Given the description of an element on the screen output the (x, y) to click on. 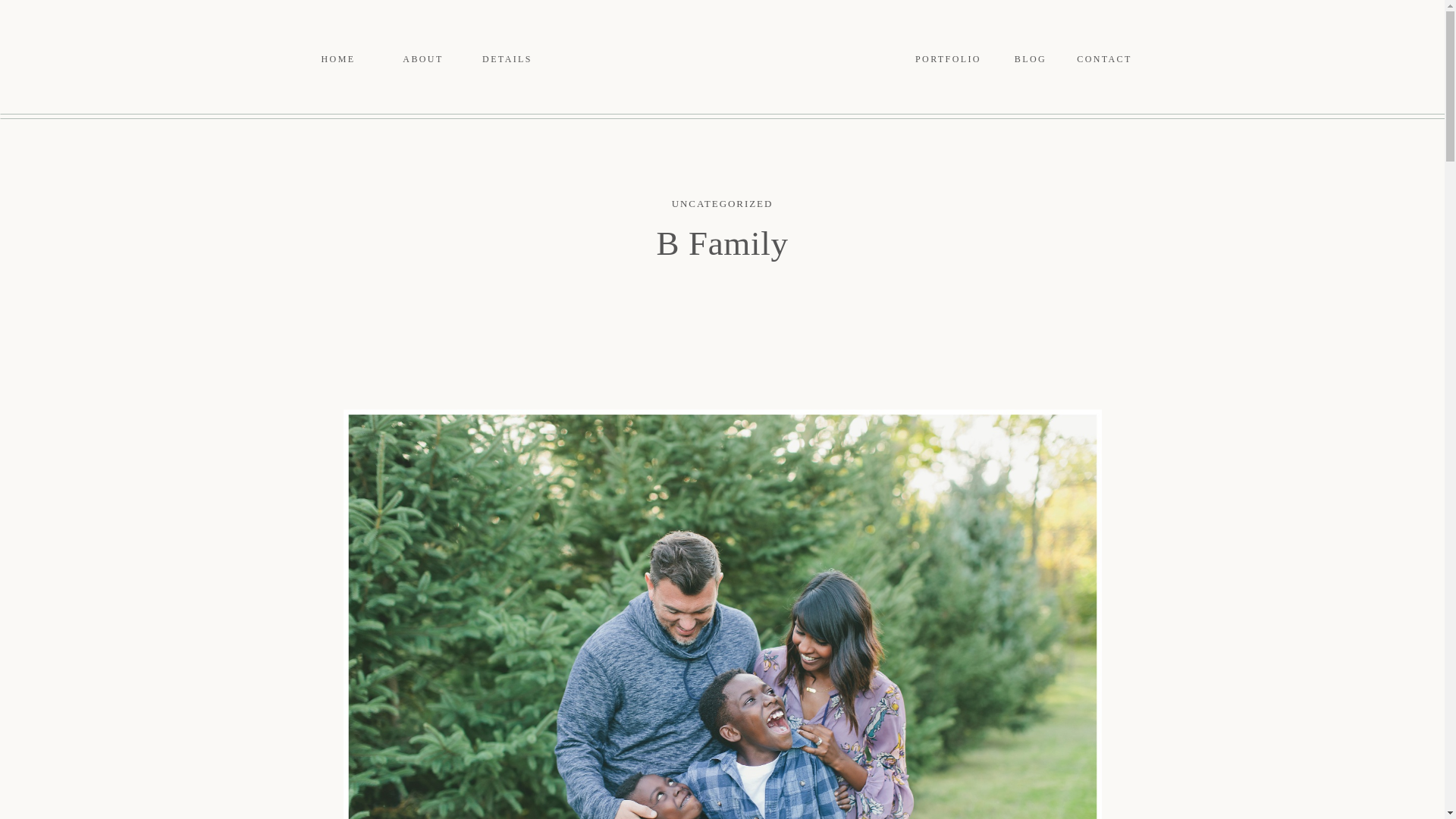
PORTFOLIO (948, 59)
BLOG (1030, 59)
UNCATEGORIZED (722, 203)
DETAILS (507, 59)
CONTACT (1104, 59)
ABOUT (422, 59)
HOME (338, 59)
